Given the description of an element on the screen output the (x, y) to click on. 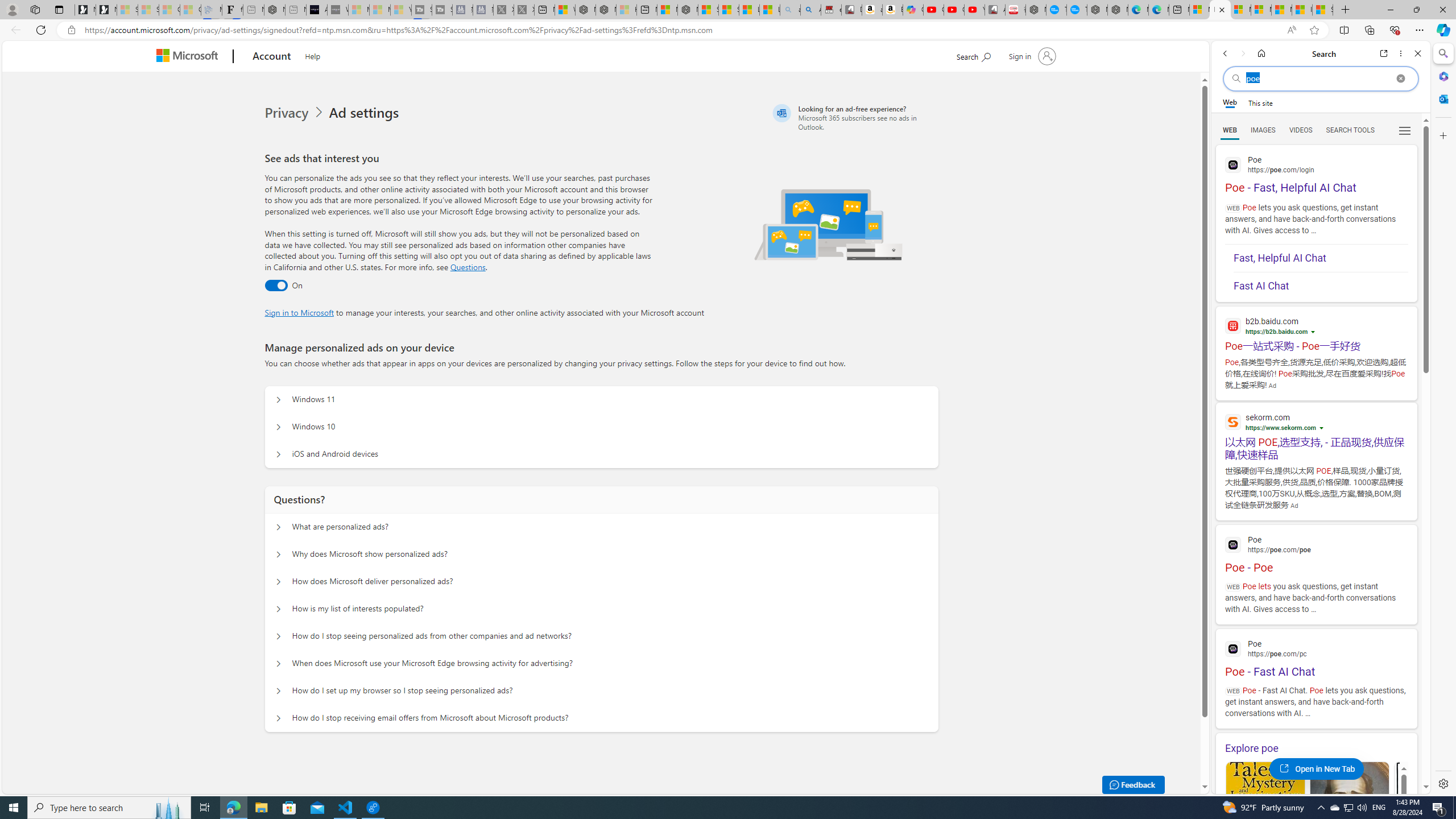
Microsoft Start - Sleeping (379, 9)
Account (272, 56)
App bar (728, 29)
Fast AI Chat (1320, 286)
IMAGES (1262, 130)
